Given the description of an element on the screen output the (x, y) to click on. 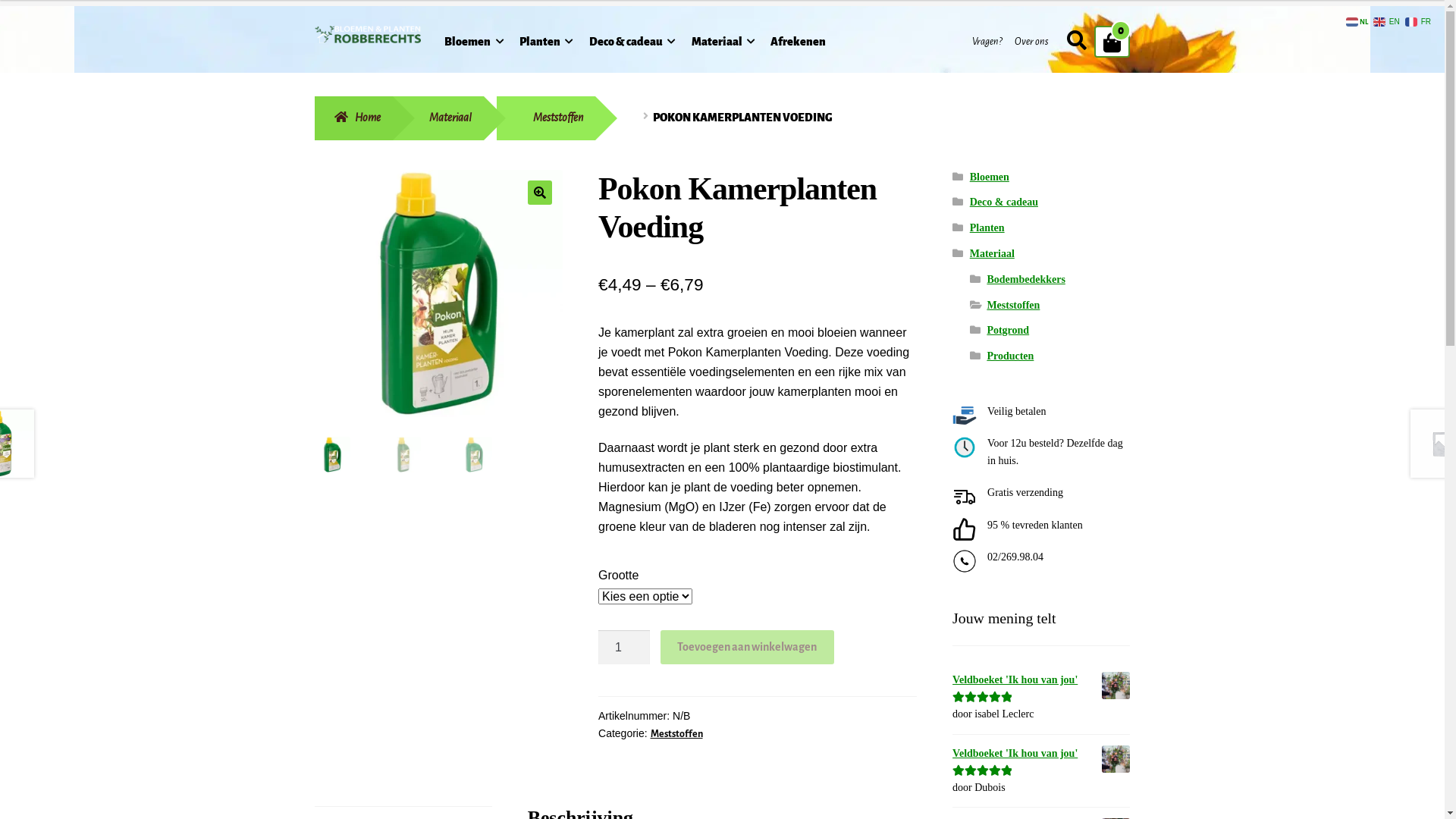
Bloemen Element type: text (989, 176)
Planten Element type: text (546, 44)
Planten Element type: text (986, 227)
Home Element type: text (353, 118)
NL Element type: text (1358, 21)
Potgrond Element type: text (1007, 329)
EN Element type: text (1387, 20)
Zoeken Element type: text (1057, 24)
Bloemen Element type: text (473, 44)
Afrekenen Element type: text (797, 44)
Toevoegen aan winkelwagen Element type: text (747, 647)
pokon-kamerplanten-voeding-1l Element type: hover (438, 293)
Meststoffen Element type: text (676, 733)
Over ons Element type: text (1031, 41)
Deco & cadeau Element type: text (632, 44)
Veldboeket 'Ik hou van jou' Element type: text (1040, 680)
Veldboeket 'Ik hou van jou' Element type: text (1040, 753)
Ga door naar navigatie Element type: text (313, 25)
Meststoffen Element type: text (1012, 304)
Vragen? Element type: text (987, 41)
Materiaal Element type: text (991, 253)
Deco & cadeau Element type: text (1003, 201)
Bodembedekkers Element type: text (1025, 279)
Materiaal Element type: text (723, 44)
Producten Element type: text (1009, 355)
Meststoffen Element type: text (545, 118)
FR Element type: text (1419, 20)
Materiaal Element type: text (437, 118)
